Given the description of an element on the screen output the (x, y) to click on. 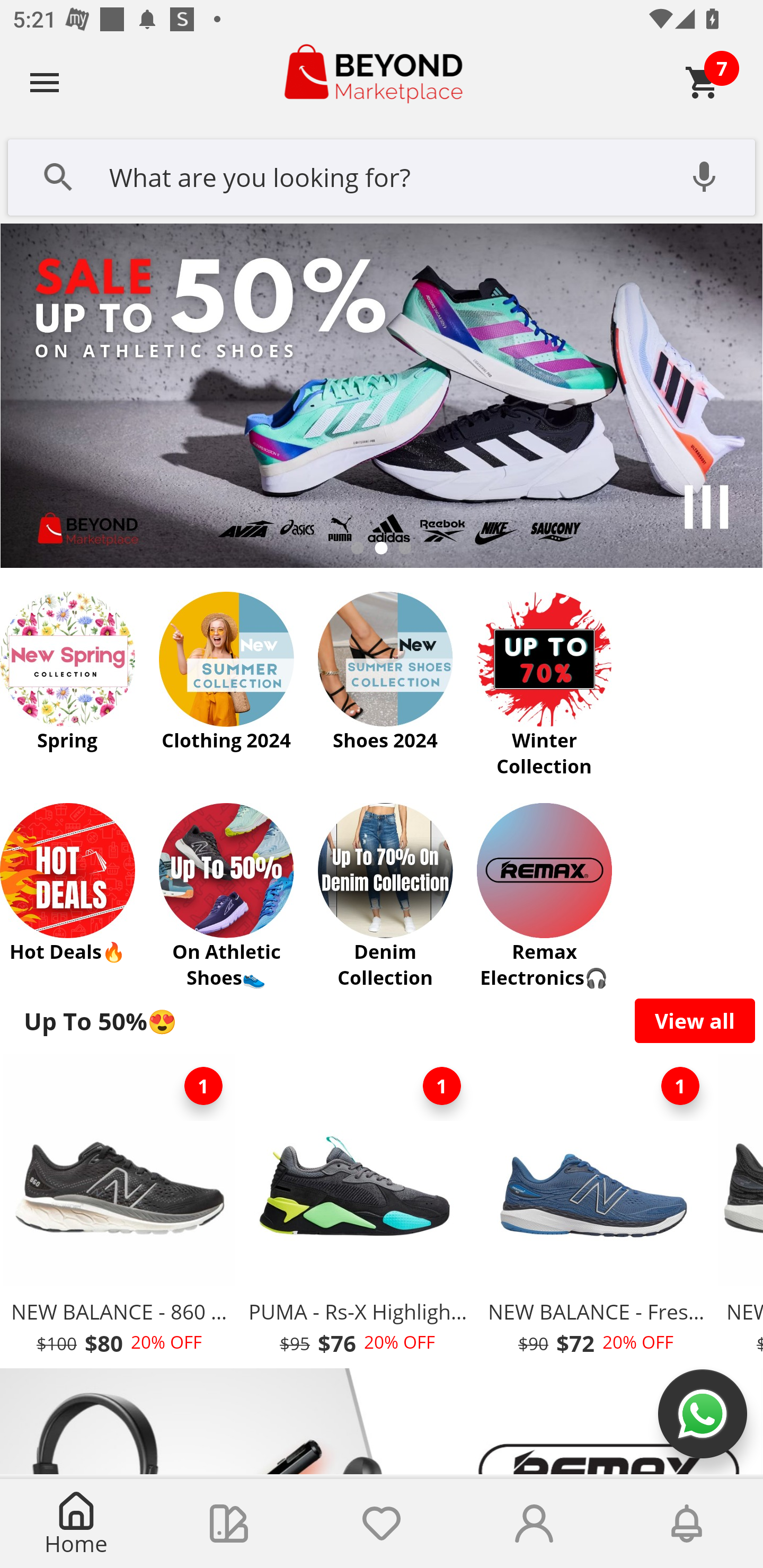
Navigate up (44, 82)
What are you looking for? (381, 175)
View all (694, 1020)
1 NEW BALANCE - 860 Running Shoes $100 $80 20% OFF (119, 1209)
1 (203, 1085)
1 (441, 1085)
1 (680, 1085)
Collections (228, 1523)
Wishlist (381, 1523)
Account (533, 1523)
Notifications (686, 1523)
